Given the description of an element on the screen output the (x, y) to click on. 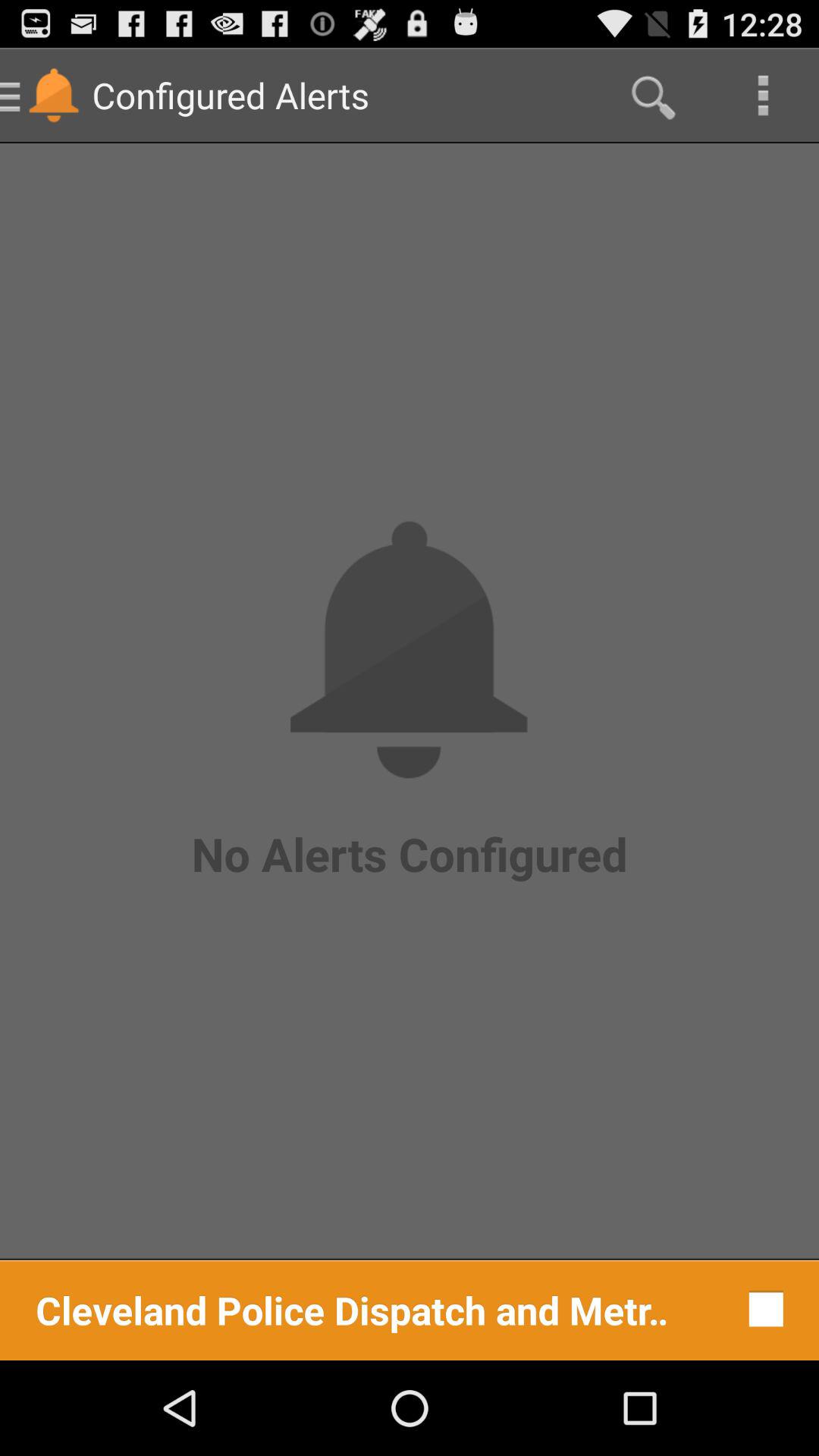
turn on cleveland police dispatch icon (352, 1309)
